Given the description of an element on the screen output the (x, y) to click on. 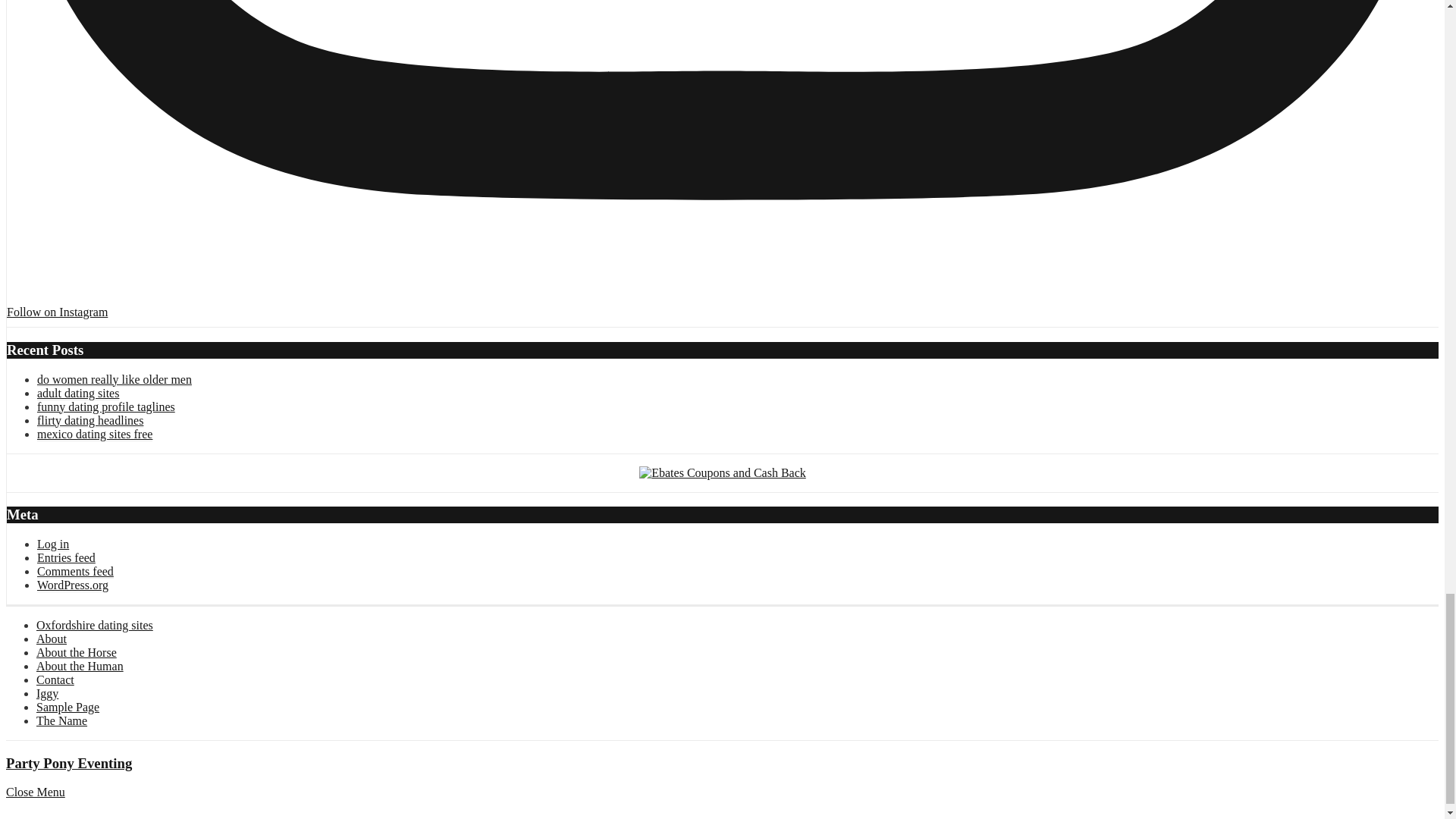
mexico dating sites free (94, 434)
Party Pony Eventing (68, 763)
The Name (61, 720)
About (51, 638)
Iggy (47, 693)
Comments feed (75, 571)
flirty dating headlines (89, 420)
Entries feed (66, 558)
WordPress.org (72, 585)
Sample Page (67, 707)
do women really like older men (114, 379)
Oxfordshire dating sites (94, 625)
funny dating profile taglines (105, 407)
About the Horse (76, 652)
About the Human (79, 666)
